Given the description of an element on the screen output the (x, y) to click on. 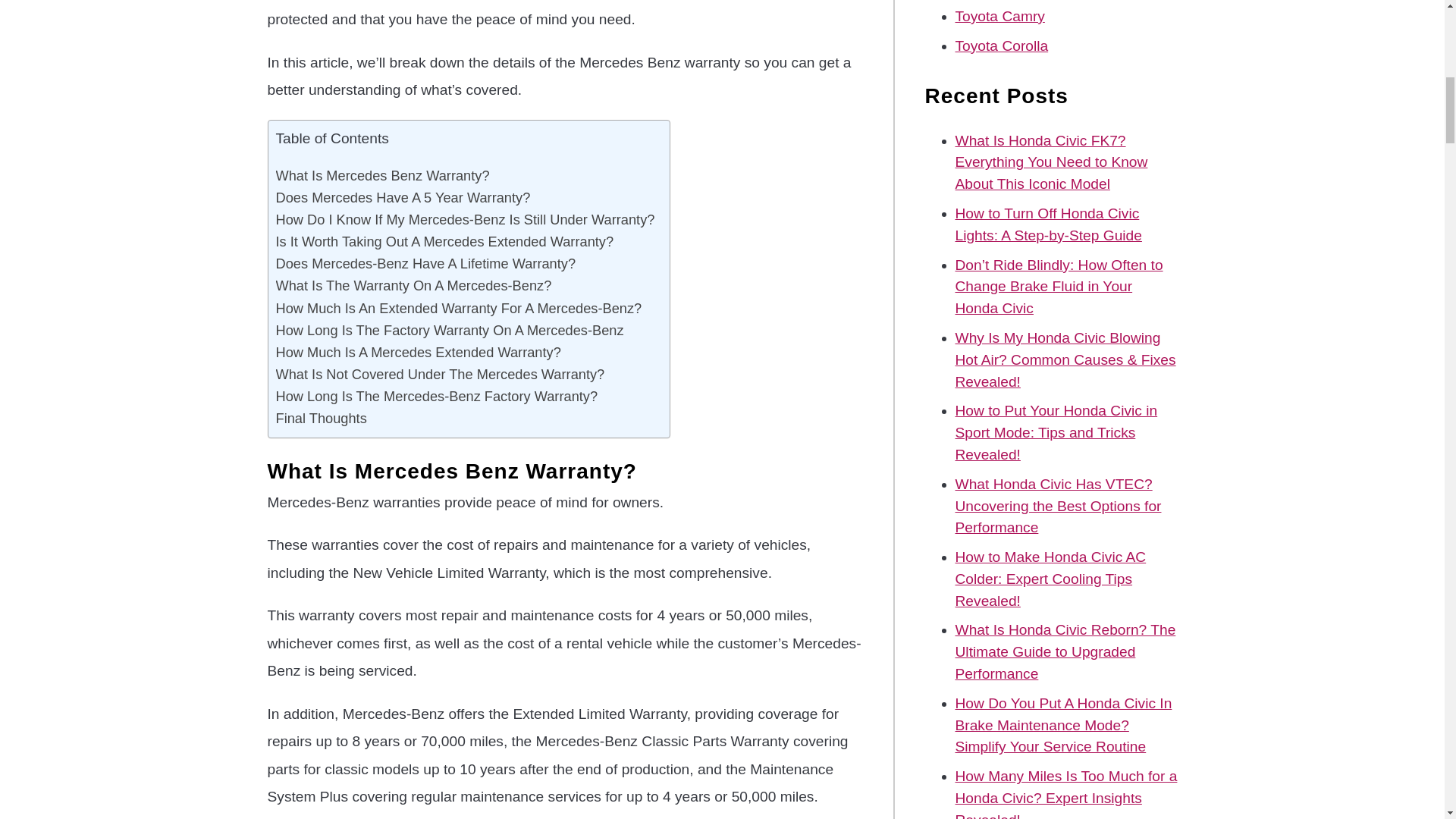
Does Mercedes-Benz Have A Lifetime Warranty? (426, 263)
How Long Is The Factory Warranty On A Mercedes-Benz (450, 330)
What Is The Warranty On A Mercedes-Benz? (413, 285)
Toyota Camry (1000, 16)
How Much Is A Mercedes Extended Warranty? (418, 352)
How Do I Know If My Mercedes-Benz Is Still Under Warranty? (465, 219)
What Is Not Covered Under The Mercedes Warranty? (440, 373)
How Much Is An Extended Warranty For A Mercedes-Benz? (459, 308)
How Long Is The Mercedes-Benz Factory Warranty? (437, 395)
How Long Is The Mercedes-Benz Factory Warranty? (437, 395)
How Much Is An Extended Warranty For A Mercedes-Benz? (459, 308)
What Is Mercedes Benz Warranty? (382, 174)
How Much Is A Mercedes Extended Warranty? (418, 352)
What Is The Warranty On A Mercedes-Benz? (413, 285)
Is It Worth Taking Out A Mercedes Extended Warranty? (445, 241)
